Given the description of an element on the screen output the (x, y) to click on. 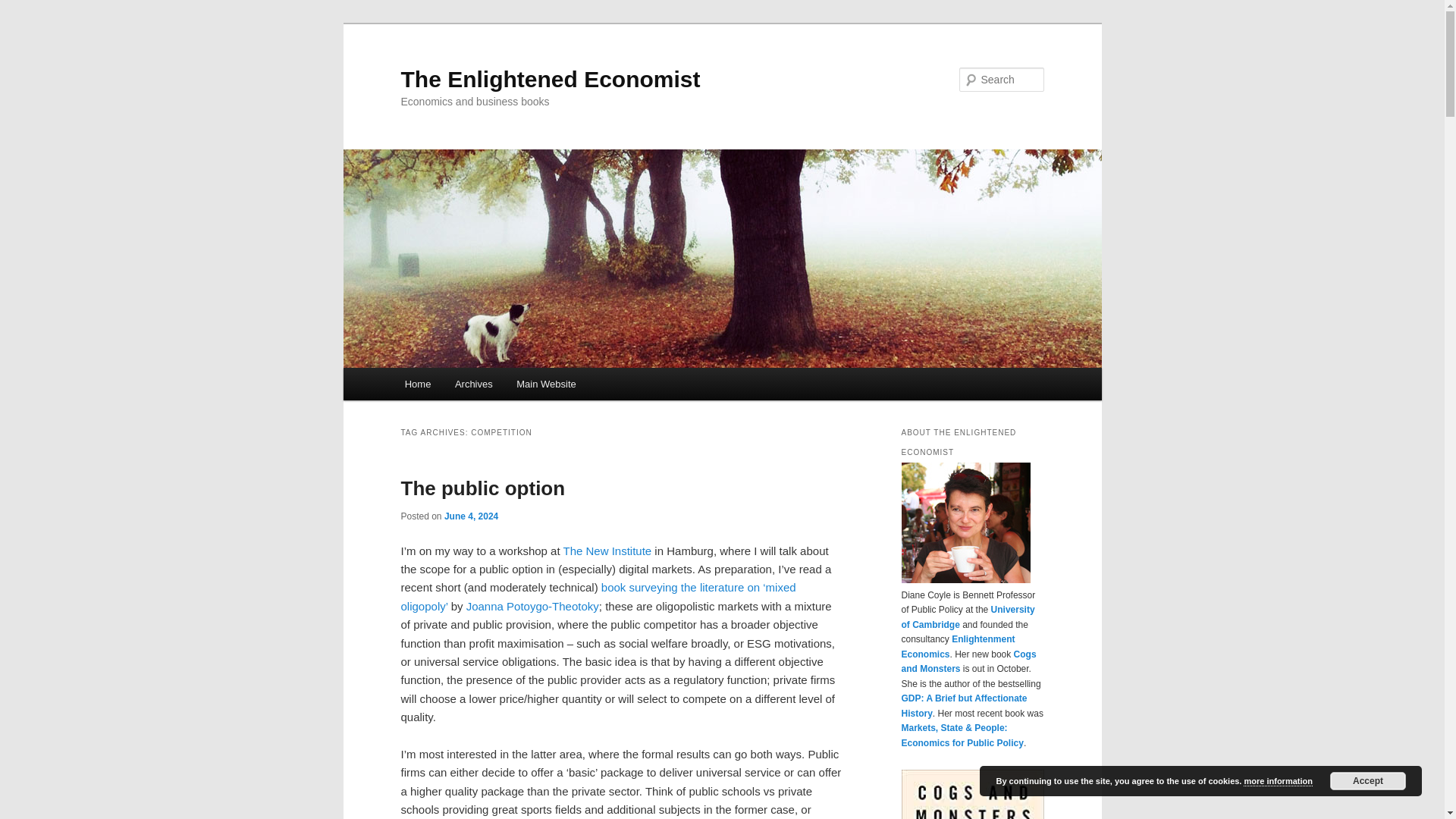
Home (417, 383)
Joanna Potoygo-Theotoky (531, 605)
Archives (472, 383)
Main Website (545, 383)
8:54 am (470, 516)
June 4, 2024 (470, 516)
The public option (482, 487)
The New Institute (606, 550)
The Enlightened Economist (550, 78)
